Given the description of an element on the screen output the (x, y) to click on. 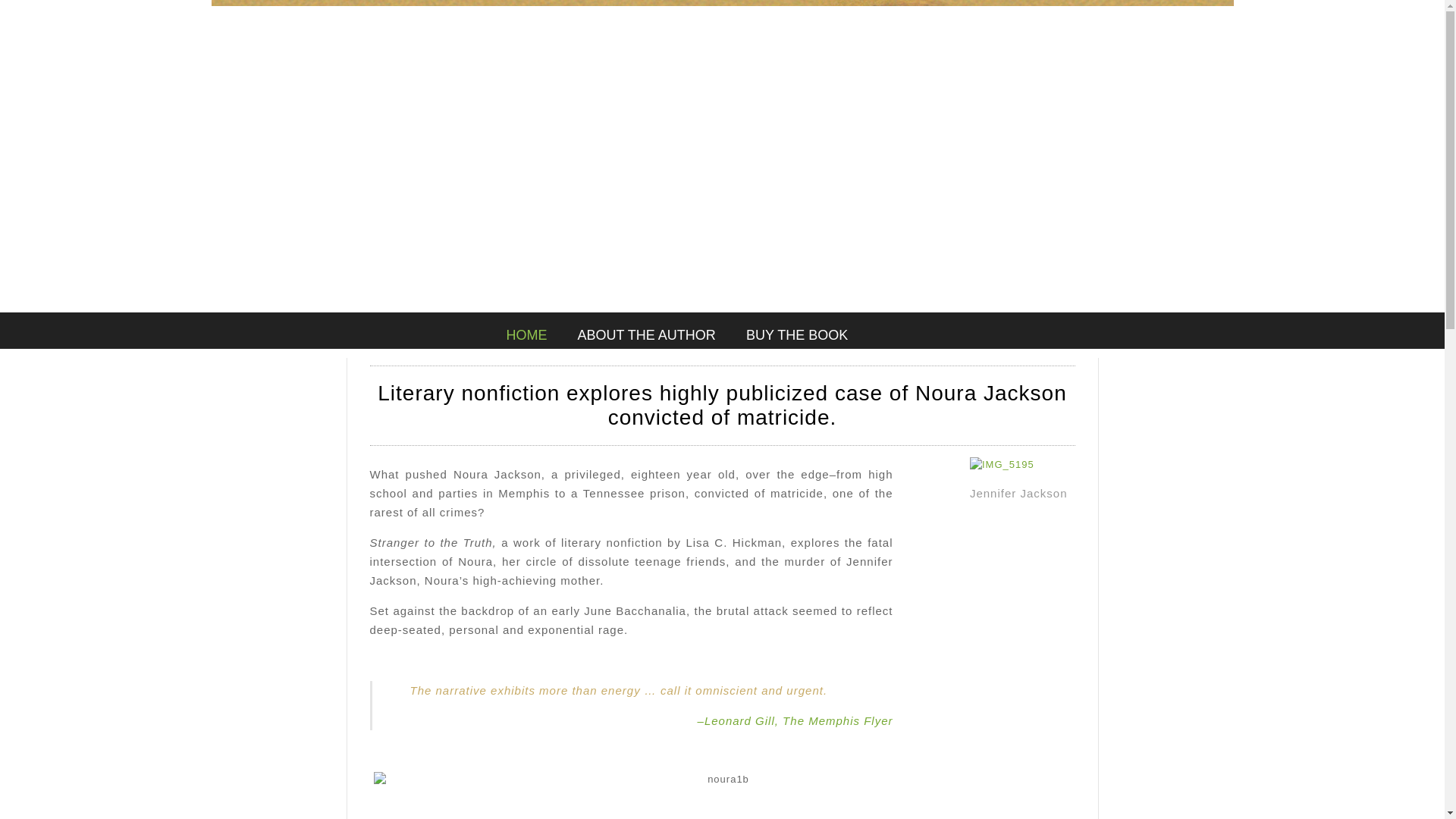
HOME (526, 334)
ABOUT THE AUTHOR (647, 334)
BUY THE BOOK (796, 334)
